Given the description of an element on the screen output the (x, y) to click on. 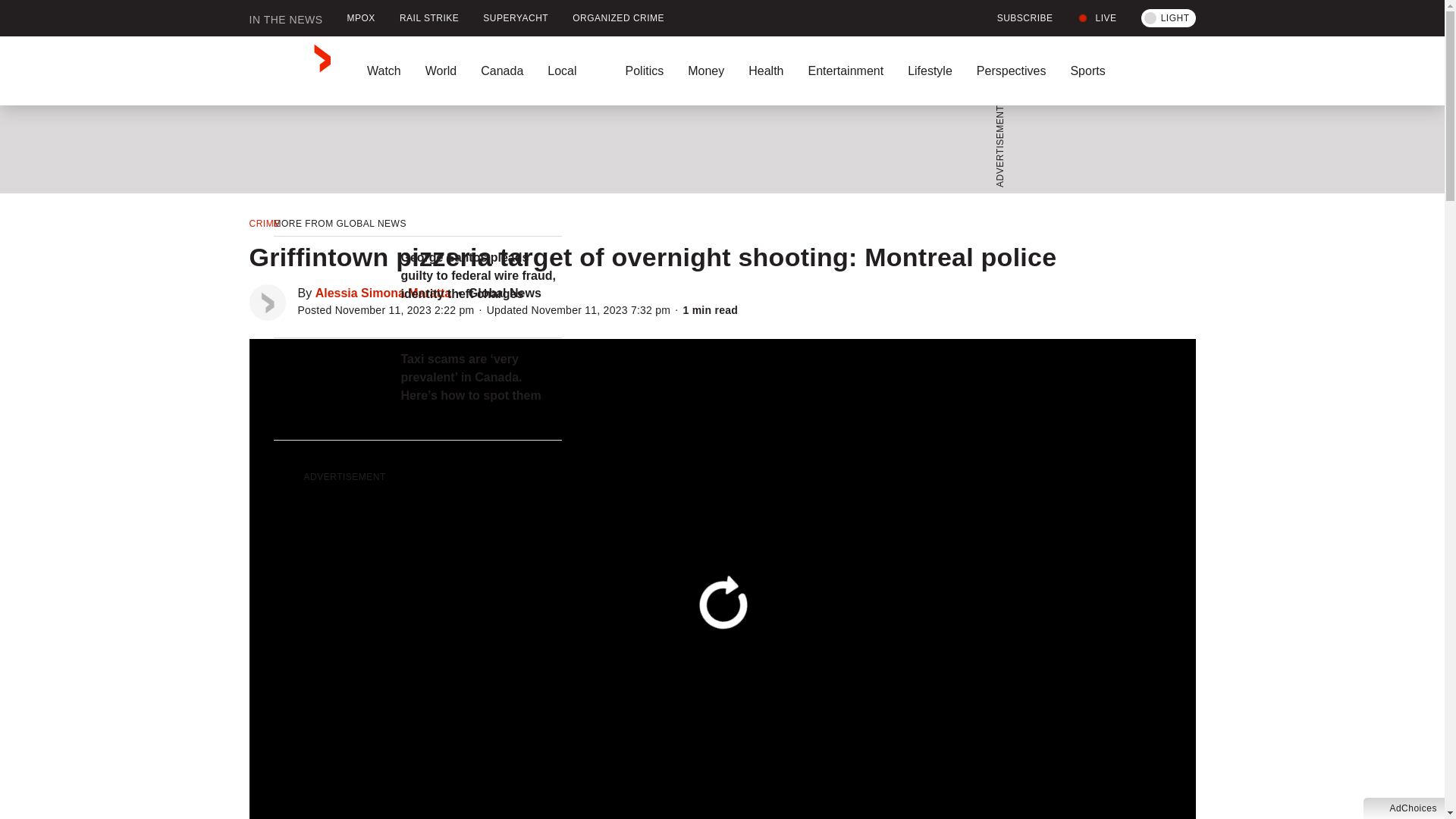
Posts by Alessia Simona Maratta (383, 293)
Perspectives (1010, 70)
Canada (501, 70)
ORGANIZED CRIME (618, 18)
GlobalNews home (289, 70)
RAIL STRIKE (428, 18)
Lifestyle (929, 70)
SUPERYACHT (515, 18)
Entertainment (844, 70)
Local (573, 70)
